Given the description of an element on the screen output the (x, y) to click on. 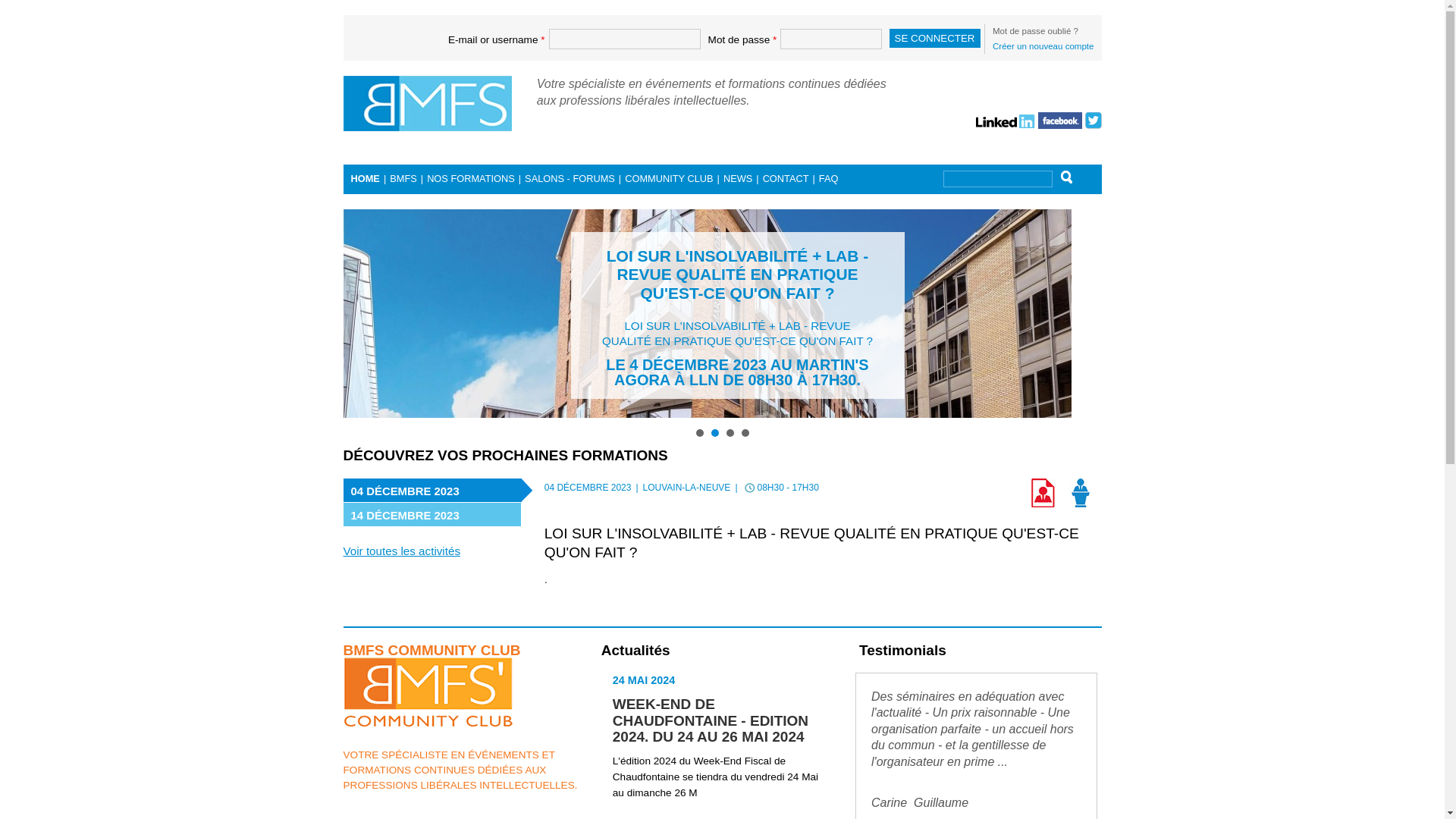
Abonnement Element type: hover (1044, 492)
BMFS Academy - formation Element type: hover (1082, 492)
SALONS - FORUMS Element type: text (569, 178)
NOS FORMATIONS Element type: text (470, 178)
4 Element type: text (745, 432)
CONTACT Element type: text (785, 178)
  Element type: text (1092, 118)
1 Element type: text (699, 432)
BMFS Element type: text (403, 178)
NEWS Element type: text (737, 178)
COMMUNITY CLUB Element type: text (668, 178)
FAQ Element type: text (828, 178)
2 Element type: text (714, 432)
Suivez-nous sur Linkedn Element type: hover (1005, 118)
Suivez-nous sur Twitter Element type: hover (1092, 118)
Se connecter Element type: text (934, 37)
  Element type: text (1005, 118)
3 Element type: text (730, 432)
  Element type: text (1060, 118)
Suivez-nous sur Facebook Element type: hover (1060, 118)
HOME Element type: text (364, 178)
Recherche Element type: text (1067, 177)
